Given the description of an element on the screen output the (x, y) to click on. 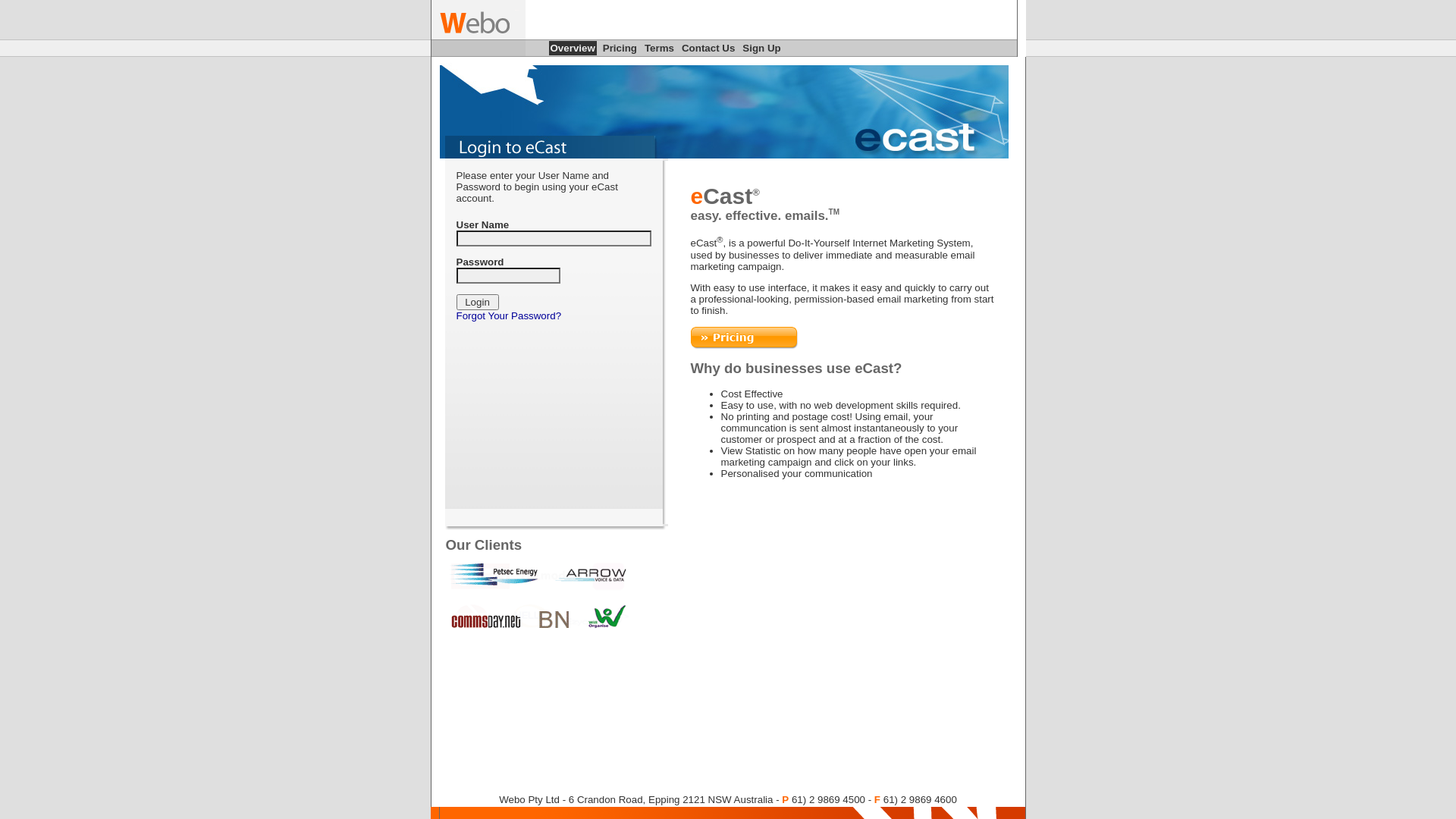
Pricing Element type: text (619, 47)
Terms Element type: text (659, 47)
 Login  Element type: text (477, 302)
Overview Element type: text (572, 47)
Contact Us Element type: text (708, 47)
Forgot Your Password? Element type: text (508, 315)
Sign Up Element type: text (760, 47)
